Given the description of an element on the screen output the (x, y) to click on. 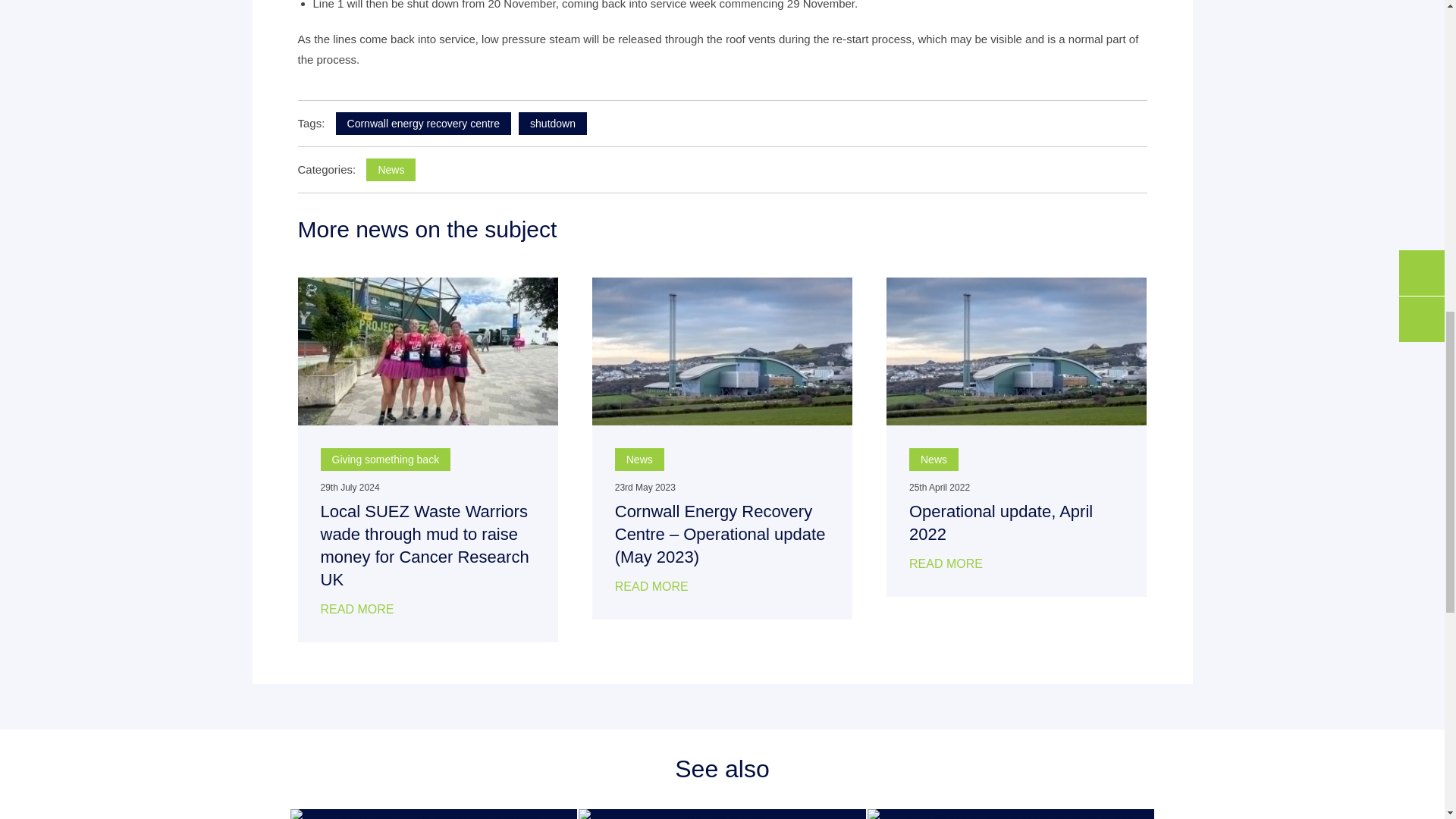
News (390, 169)
Cornwall energy recovery centre (424, 123)
News (638, 458)
Giving something back (384, 458)
shutdown (552, 123)
READ MORE (356, 608)
